Given the description of an element on the screen output the (x, y) to click on. 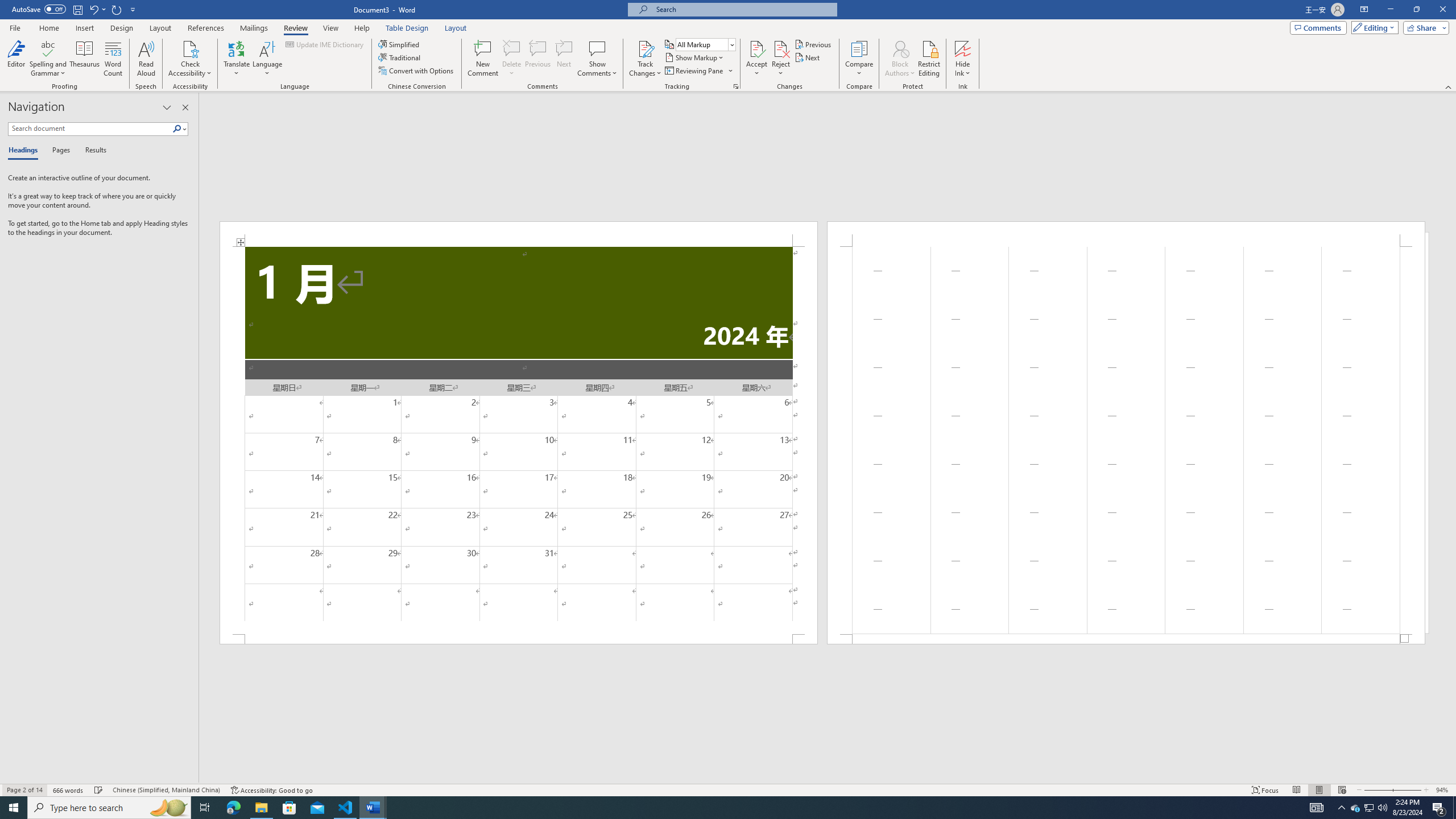
Show Markup (695, 56)
Change Tracking Options... (735, 85)
Reject (780, 58)
Reject and Move to Next (780, 48)
Traditional (400, 56)
